Given the description of an element on the screen output the (x, y) to click on. 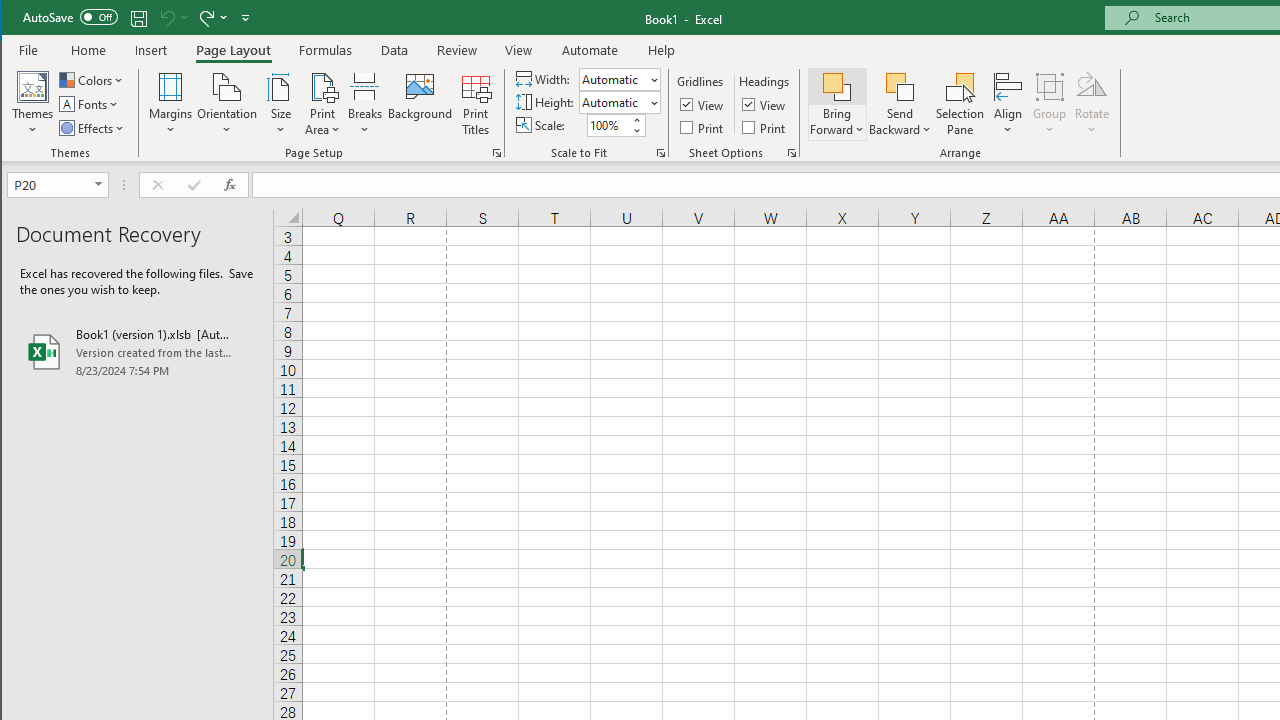
Colors (93, 80)
Background... (420, 104)
Height (612, 102)
Themes (33, 104)
Group (1050, 104)
Effects (93, 127)
